Given the description of an element on the screen output the (x, y) to click on. 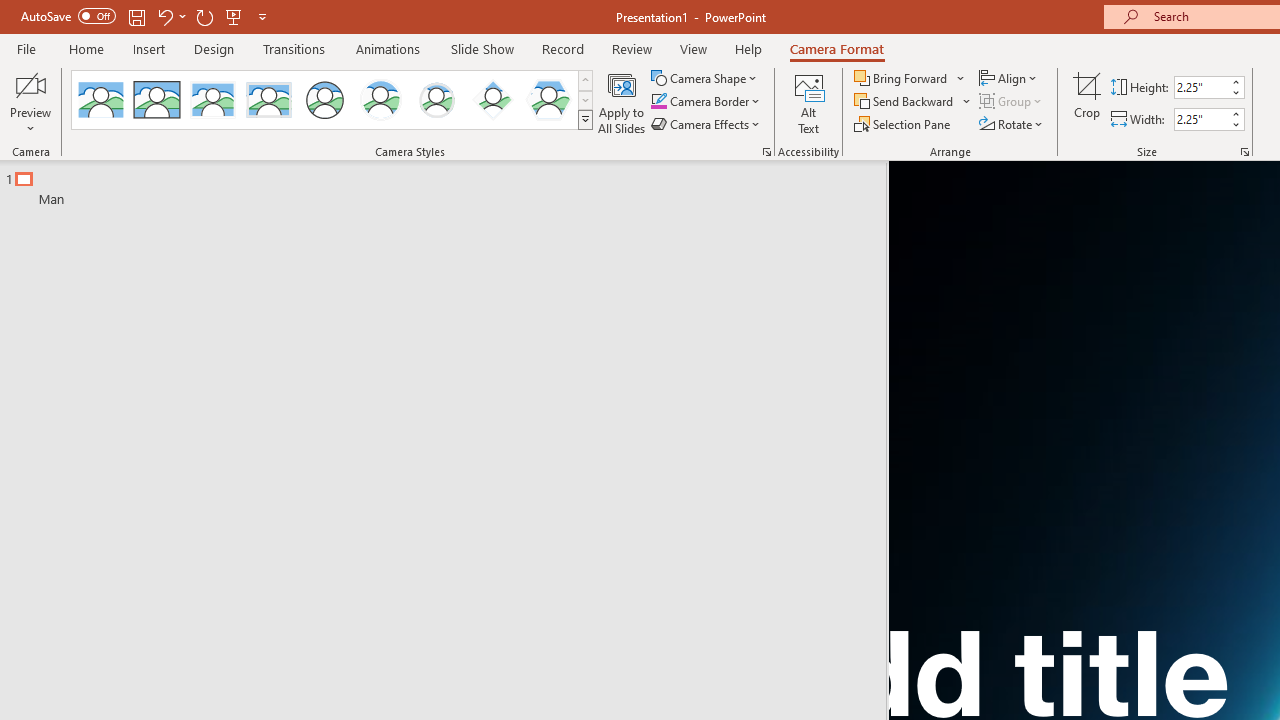
Center Shadow Circle (381, 100)
Simple Frame Circle (324, 100)
Camera Styles (585, 120)
Selection Pane... (904, 124)
Send Backward (913, 101)
Simple Frame Rectangle (157, 100)
